Given the description of an element on the screen output the (x, y) to click on. 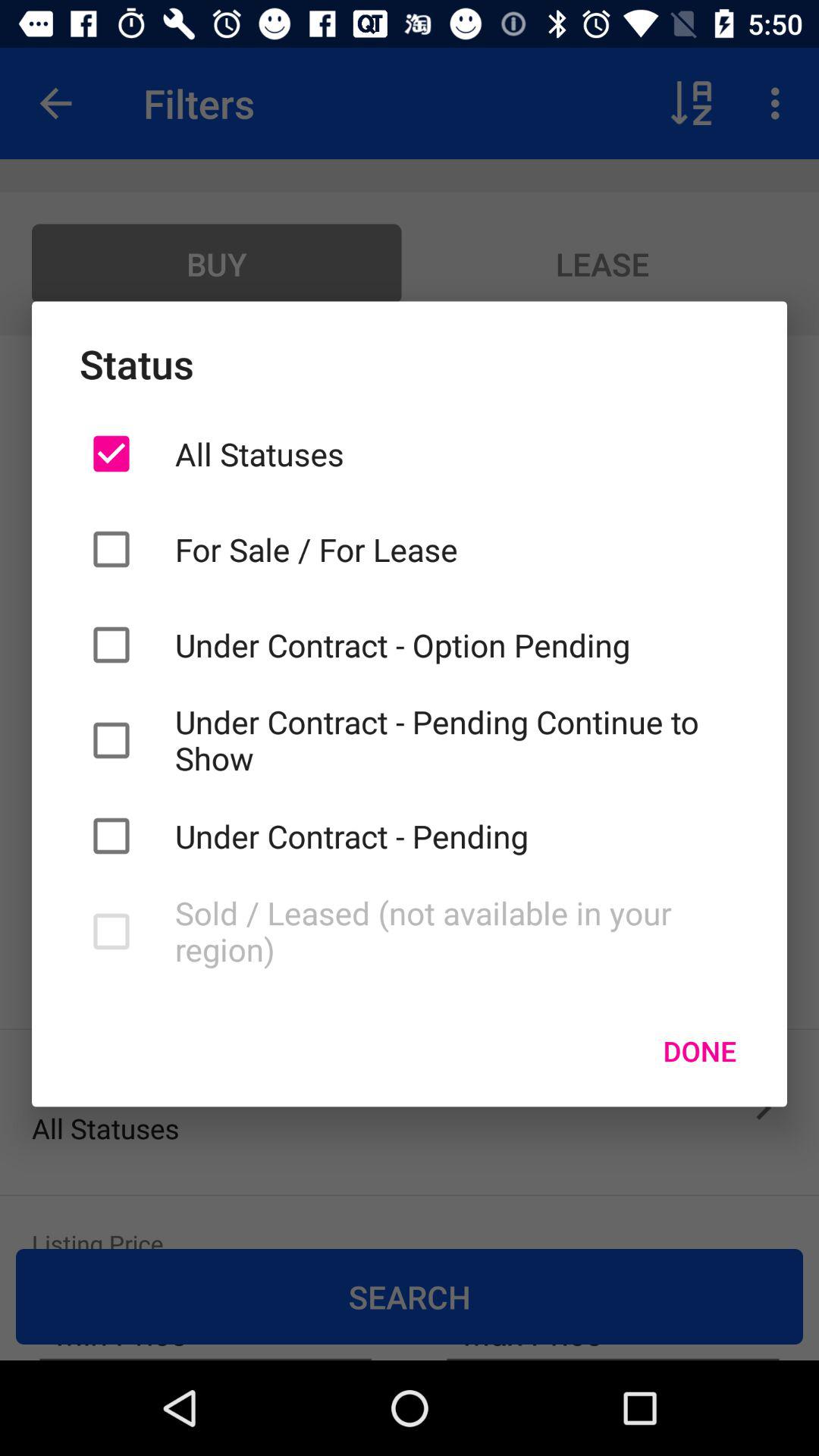
click sold leased not (457, 931)
